Given the description of an element on the screen output the (x, y) to click on. 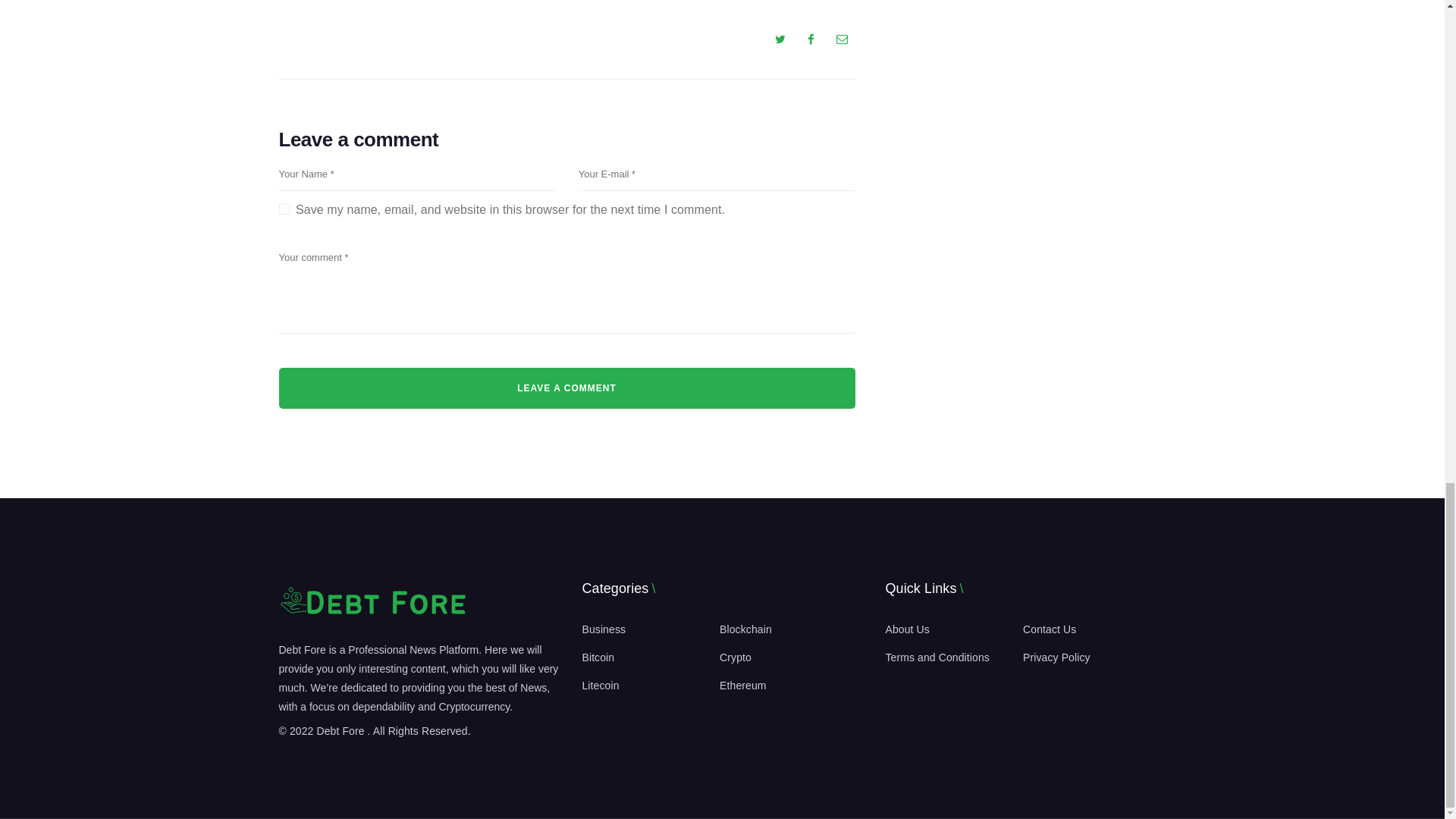
Leave a comment (567, 387)
